Given the description of an element on the screen output the (x, y) to click on. 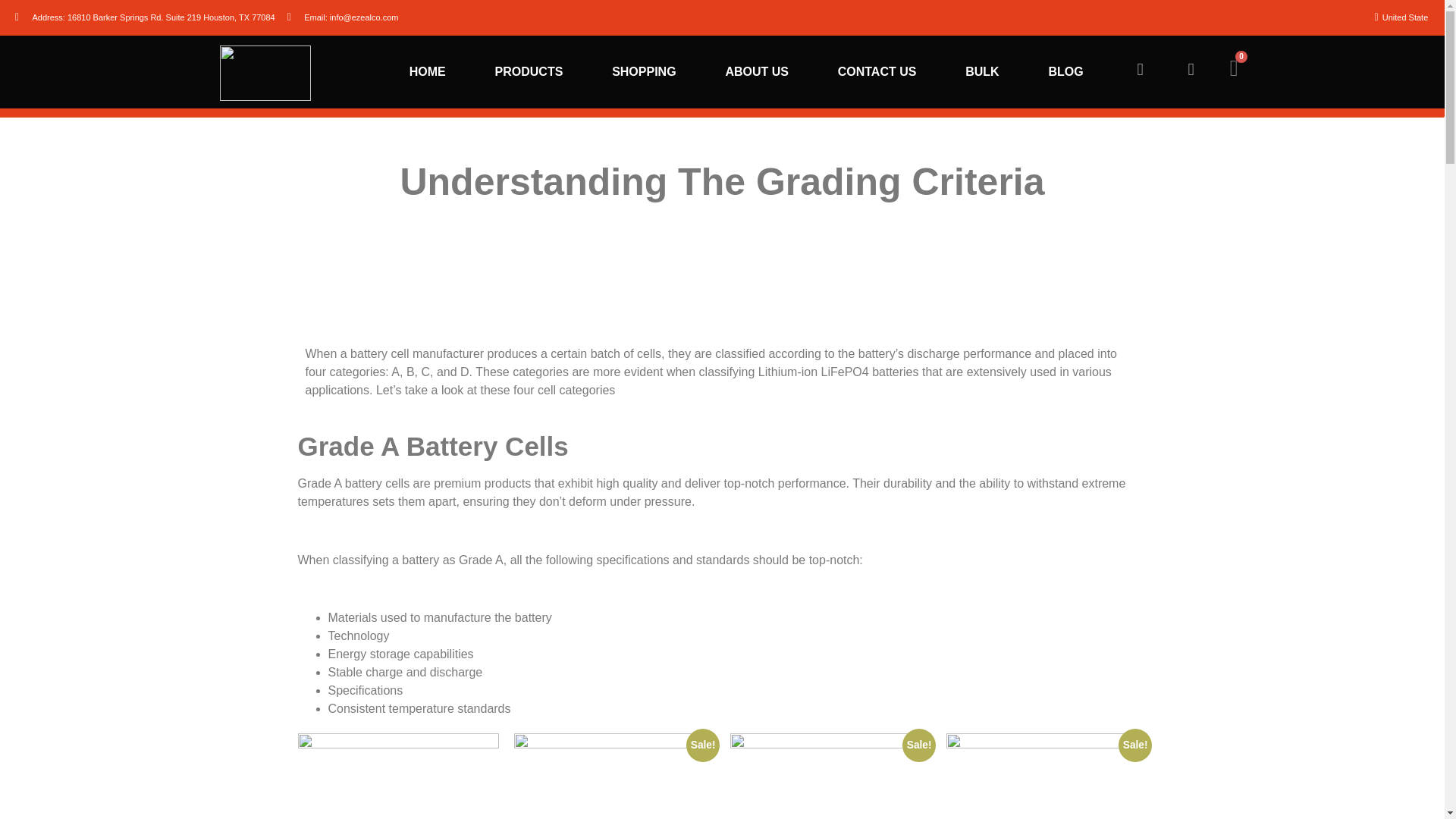
CONTACT US (876, 71)
ABOUT US (756, 71)
BULK (981, 71)
BLOG (1065, 71)
United State (1396, 17)
HOME (427, 71)
SHOPPING (644, 71)
PRODUCTS (529, 71)
